Given the description of an element on the screen output the (x, y) to click on. 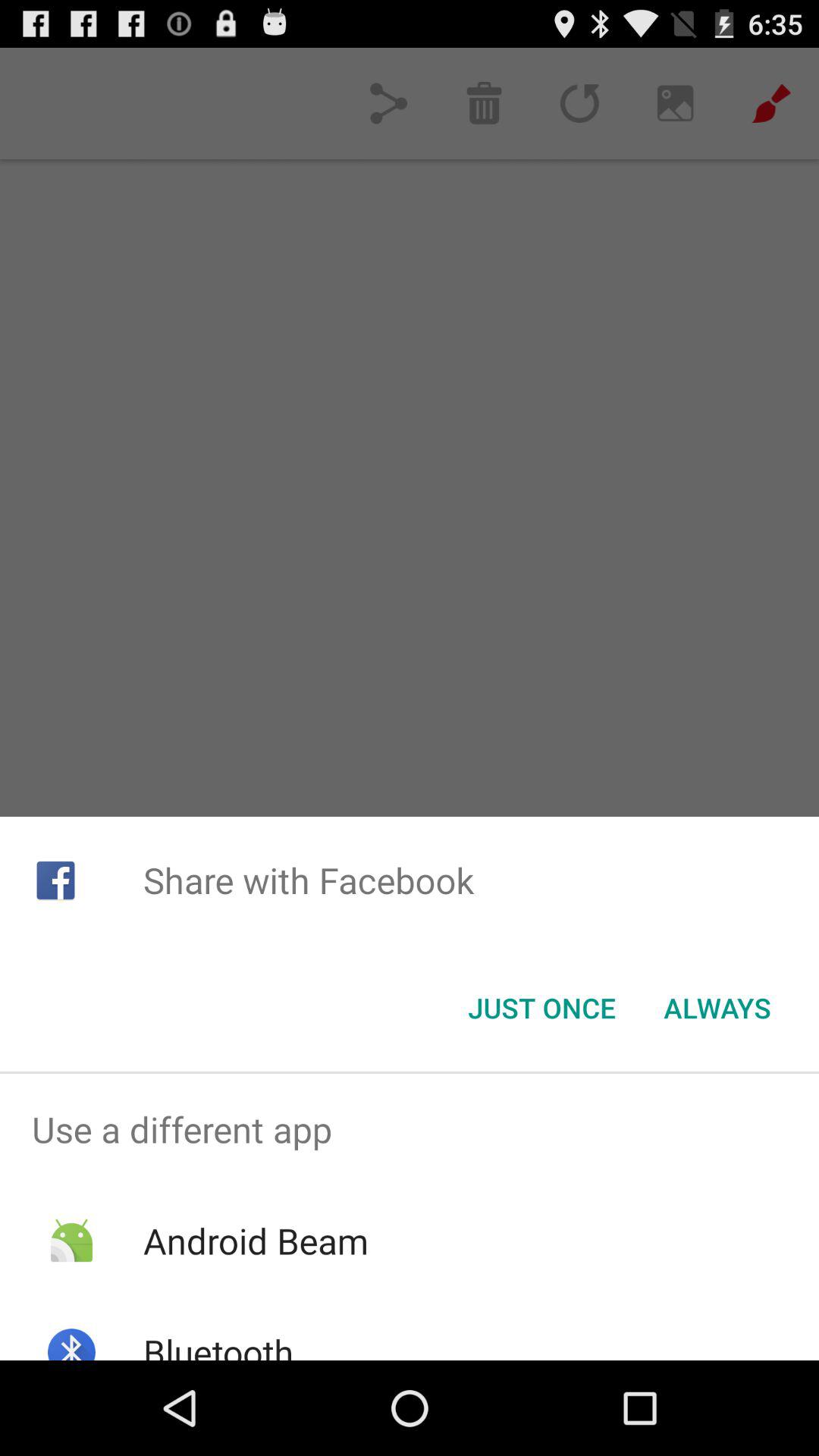
choose the item below android beam app (218, 1344)
